Given the description of an element on the screen output the (x, y) to click on. 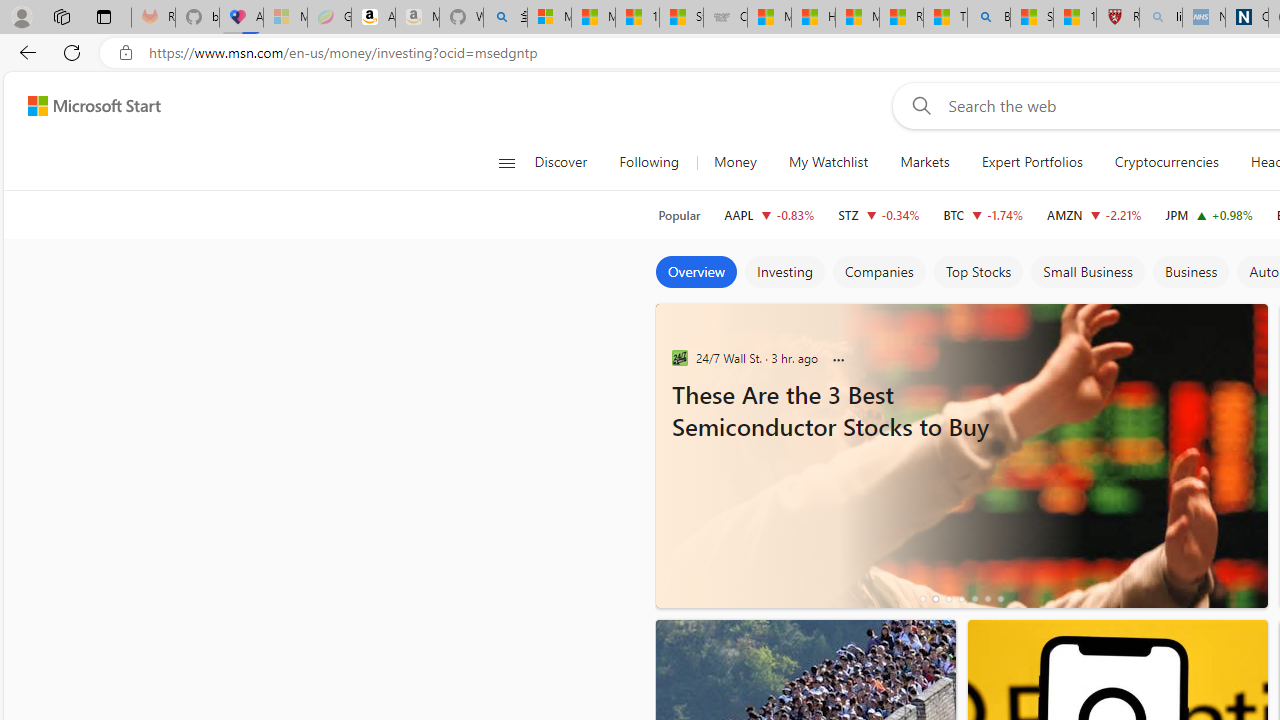
My Watchlist (828, 162)
Investing (784, 272)
Small Business (1087, 272)
Cryptocurrencies (1165, 162)
